Given the description of an element on the screen output the (x, y) to click on. 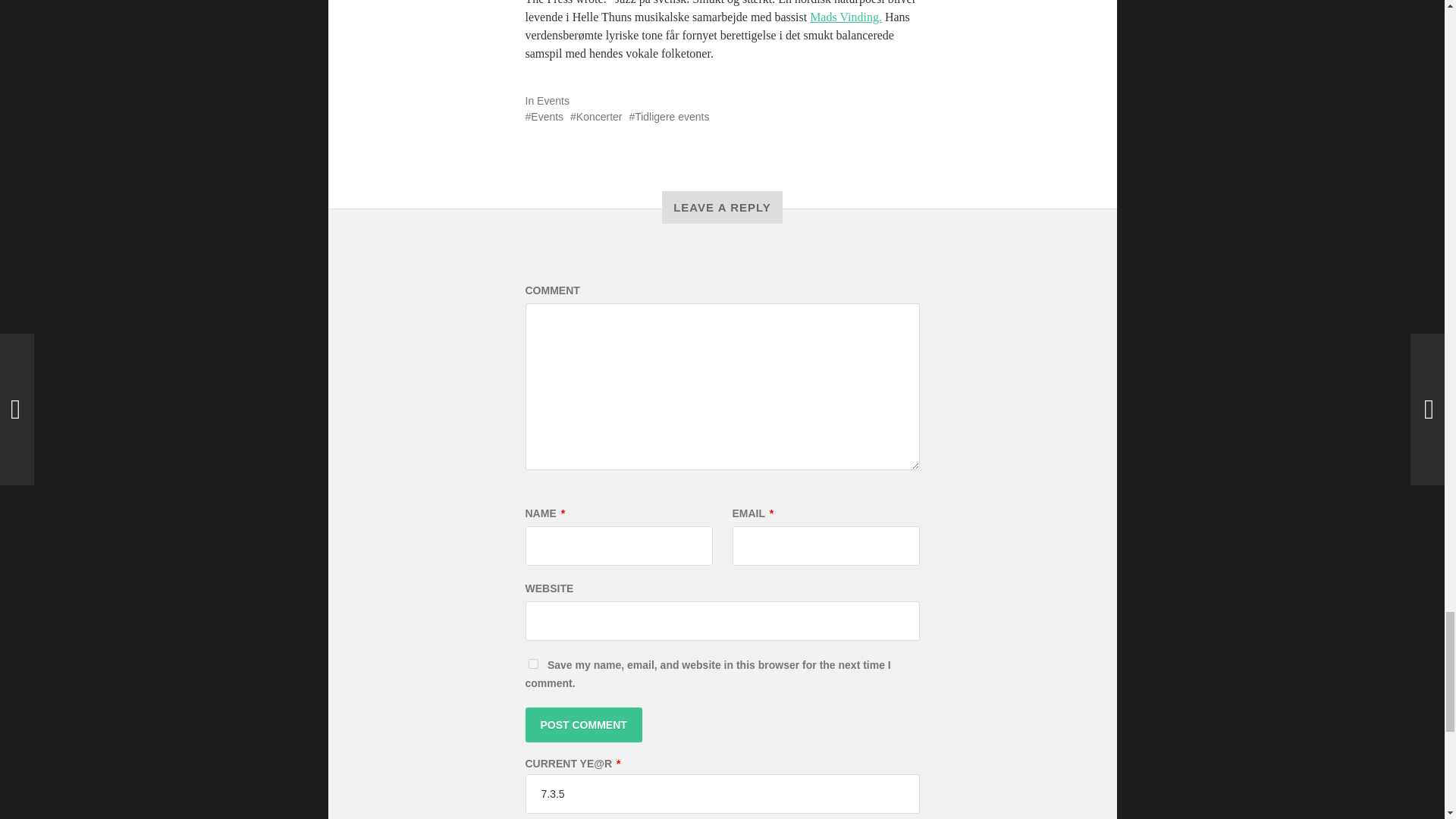
Post Comment (583, 724)
Events (543, 116)
Mads Vinding. (845, 16)
Koncerter (596, 116)
Tidligere events (668, 116)
Events (553, 100)
yes (532, 663)
7.3.5 (721, 793)
Post Comment (583, 724)
